Given the description of an element on the screen output the (x, y) to click on. 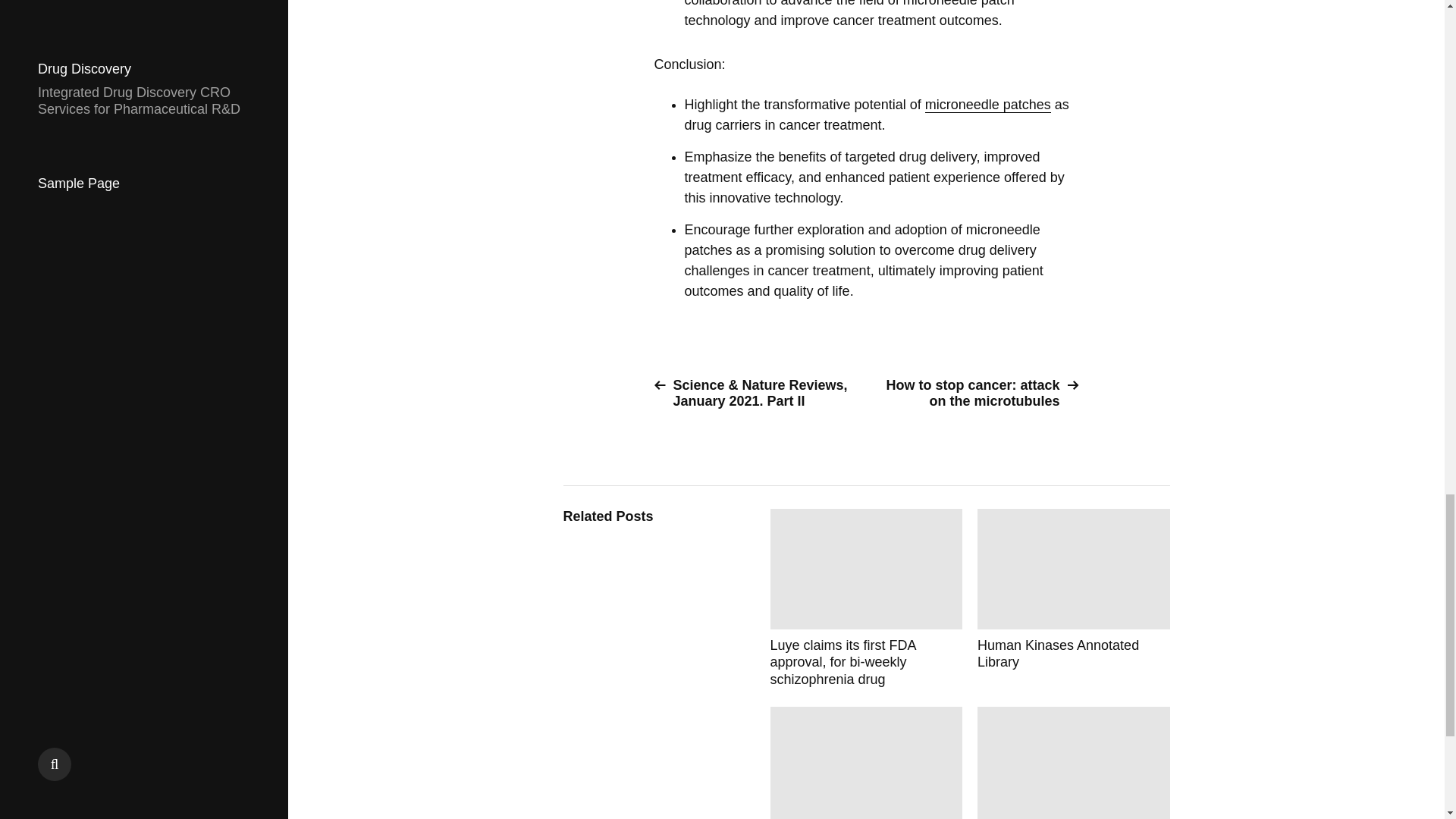
microneedle patches (987, 105)
Human Kinases Annotated Library (1073, 597)
How to stop cancer: attack on the microtubules (977, 393)
